Given the description of an element on the screen output the (x, y) to click on. 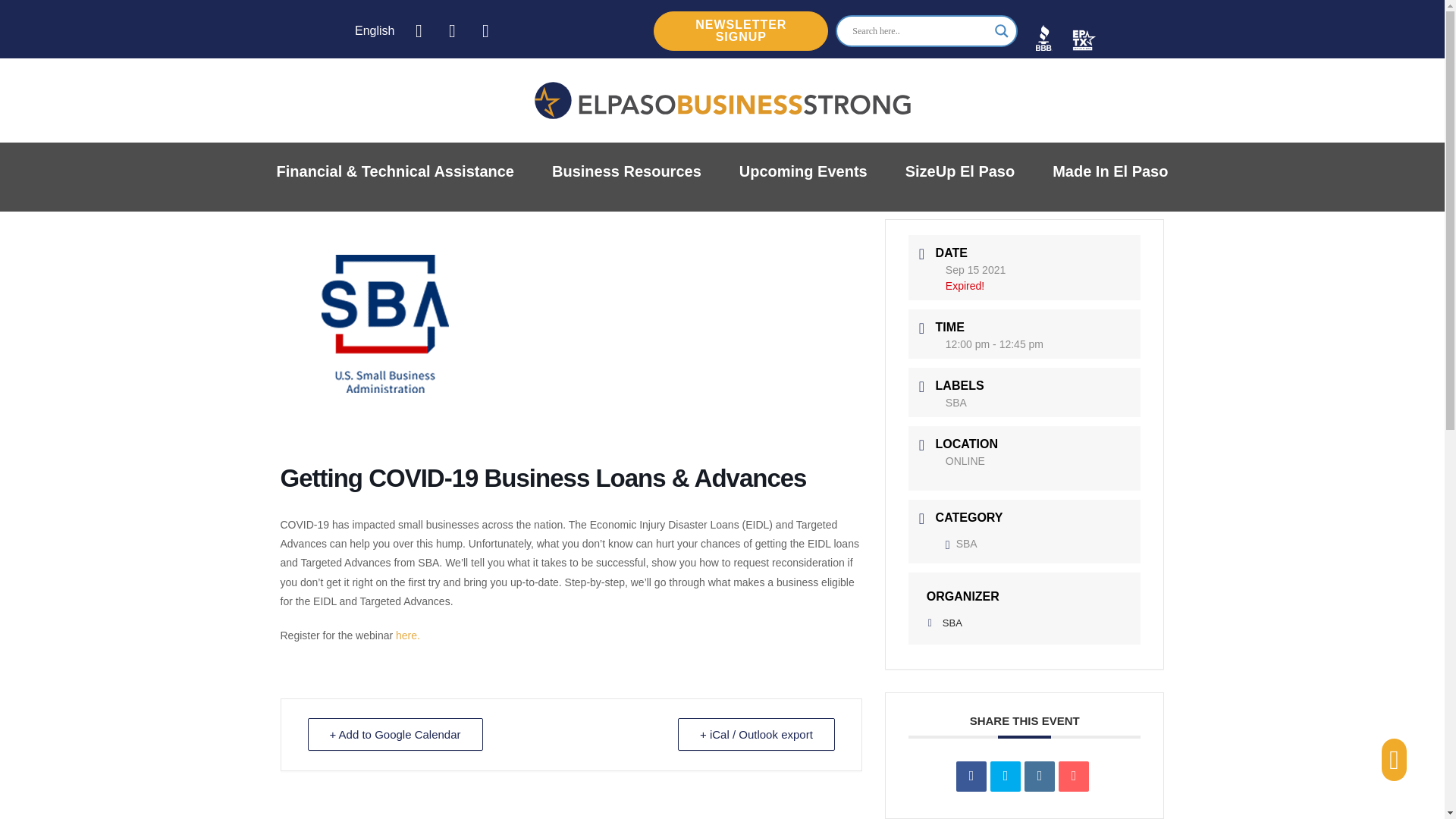
Email (1073, 776)
Made In El Paso (1109, 171)
English (370, 31)
Business Resources (626, 171)
Linkedin (1039, 776)
SizeUp El Paso (959, 171)
Upcoming Events (803, 171)
Share on Facebook (971, 776)
Tweet (1005, 776)
here. (408, 635)
